Given the description of an element on the screen output the (x, y) to click on. 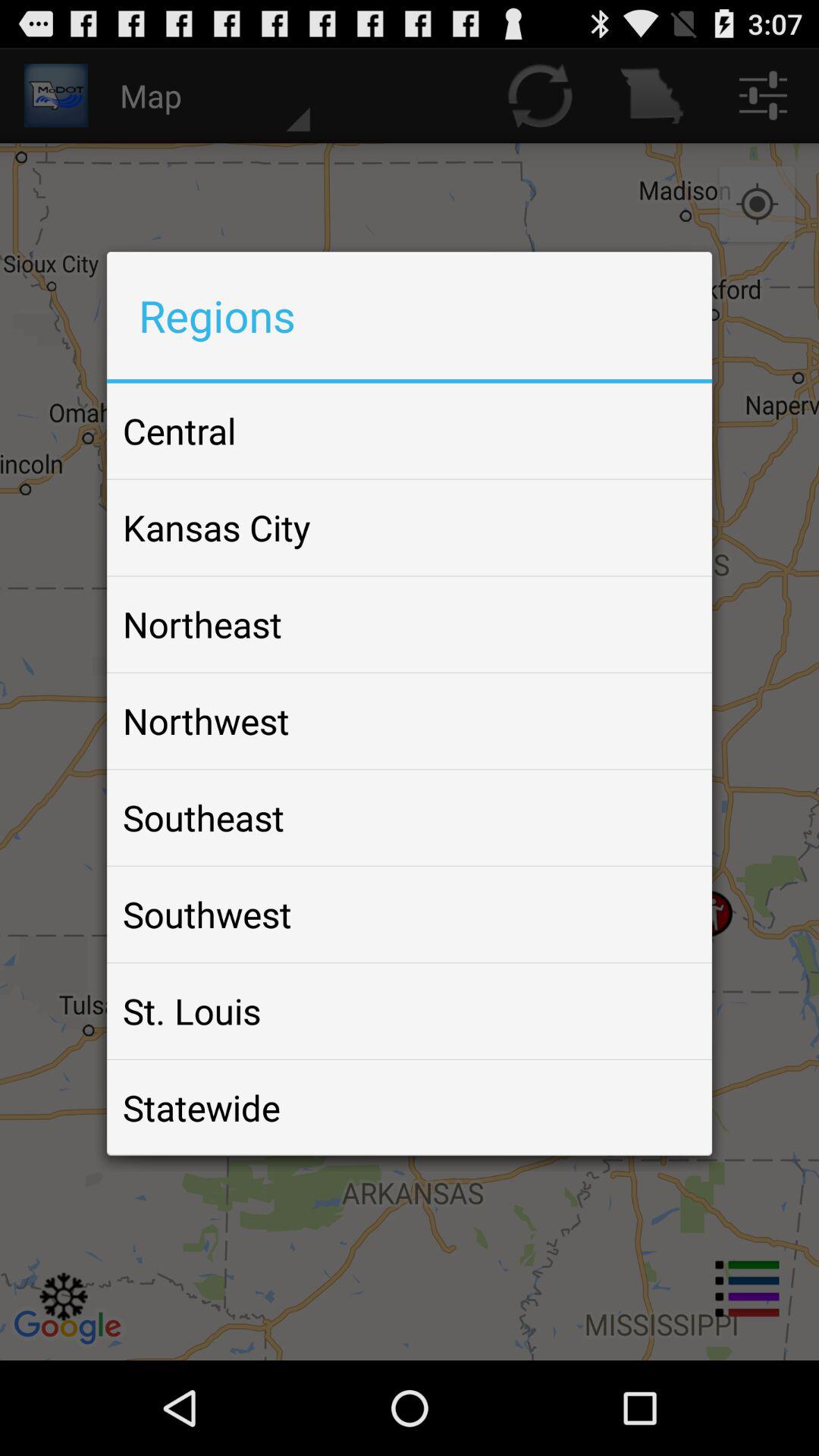
click northeast item (202, 624)
